Given the description of an element on the screen output the (x, y) to click on. 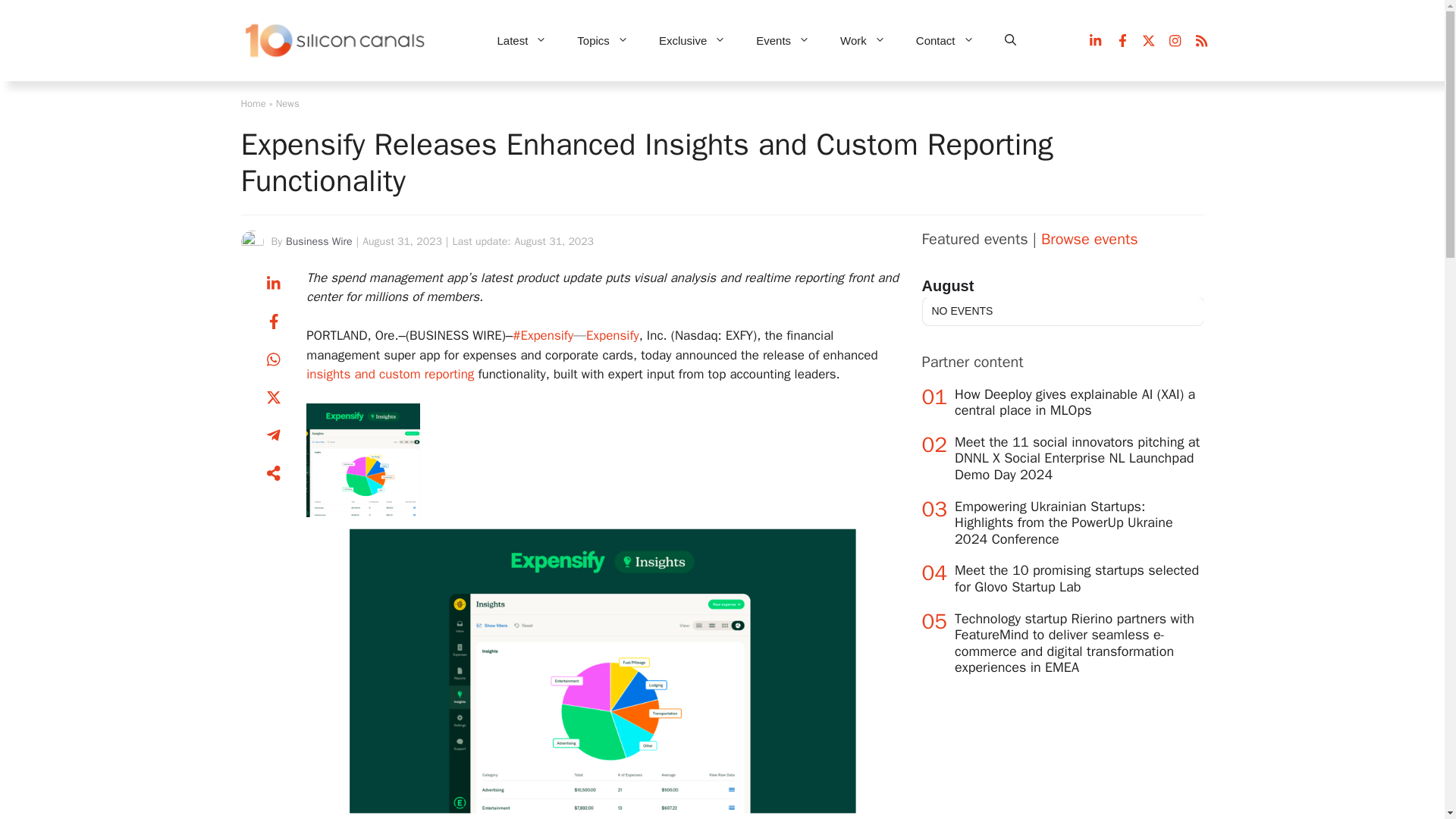
Events (783, 40)
Latest (521, 40)
Topics (602, 40)
Work (863, 40)
Exclusive (692, 40)
SC 10 year horizontal (335, 40)
